Given the description of an element on the screen output the (x, y) to click on. 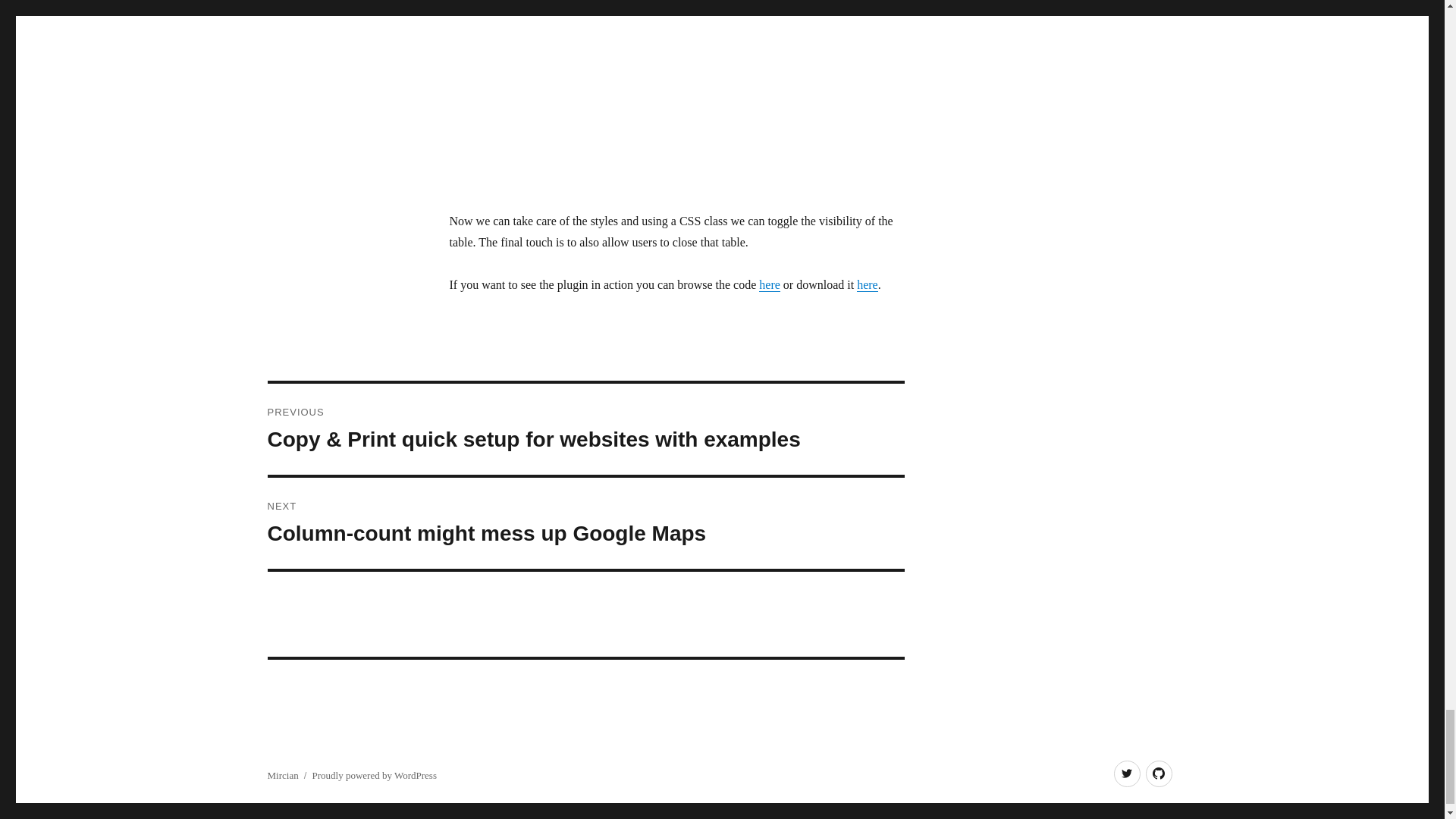
here (867, 284)
here (769, 284)
